Given the description of an element on the screen output the (x, y) to click on. 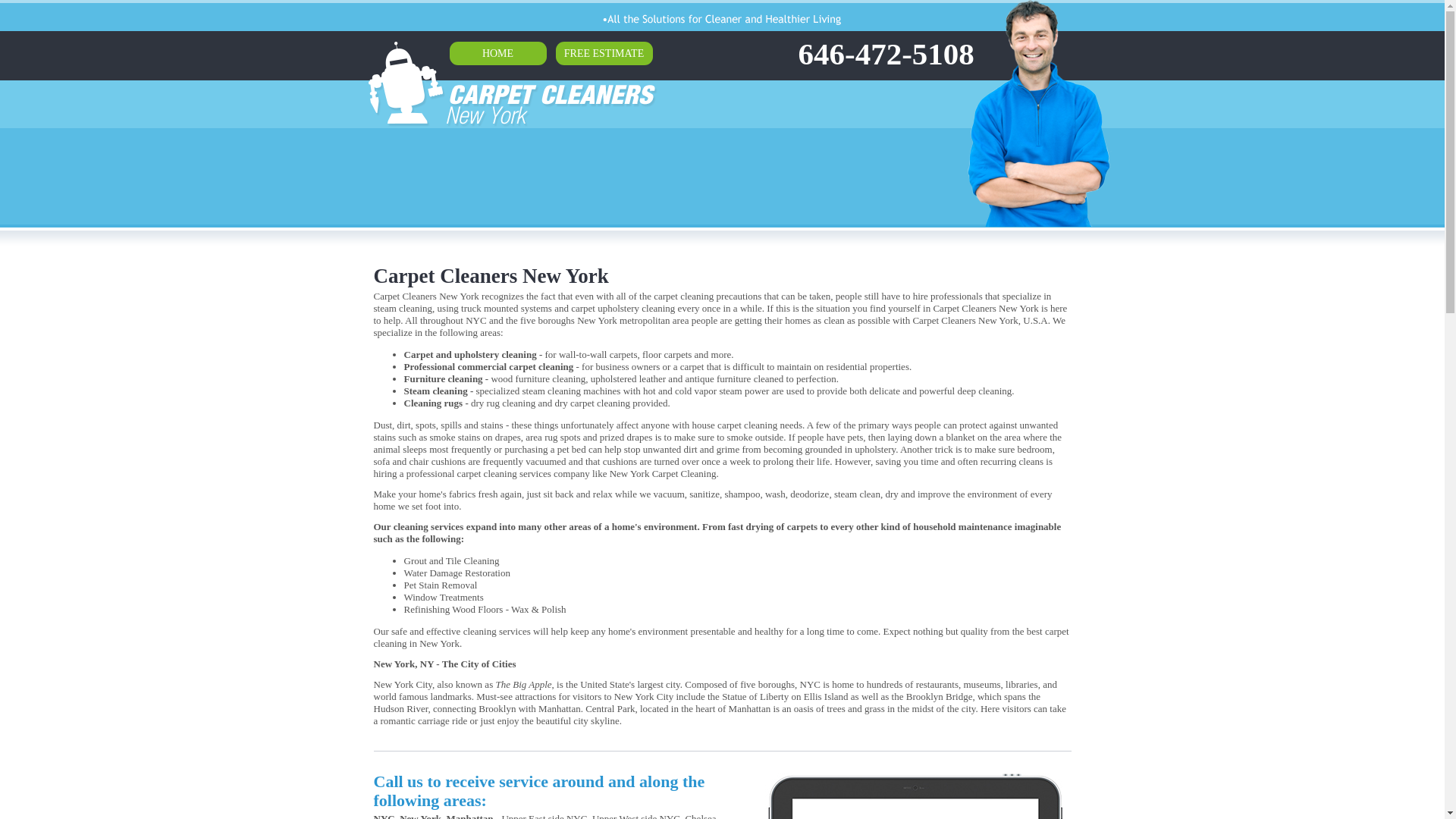
646-472-5108 (885, 53)
carpet-cleaners-new-york.com (565, 104)
HOME (497, 52)
FREE ESTIMATE (603, 52)
all cleaning solutions (721, 18)
